Given the description of an element on the screen output the (x, y) to click on. 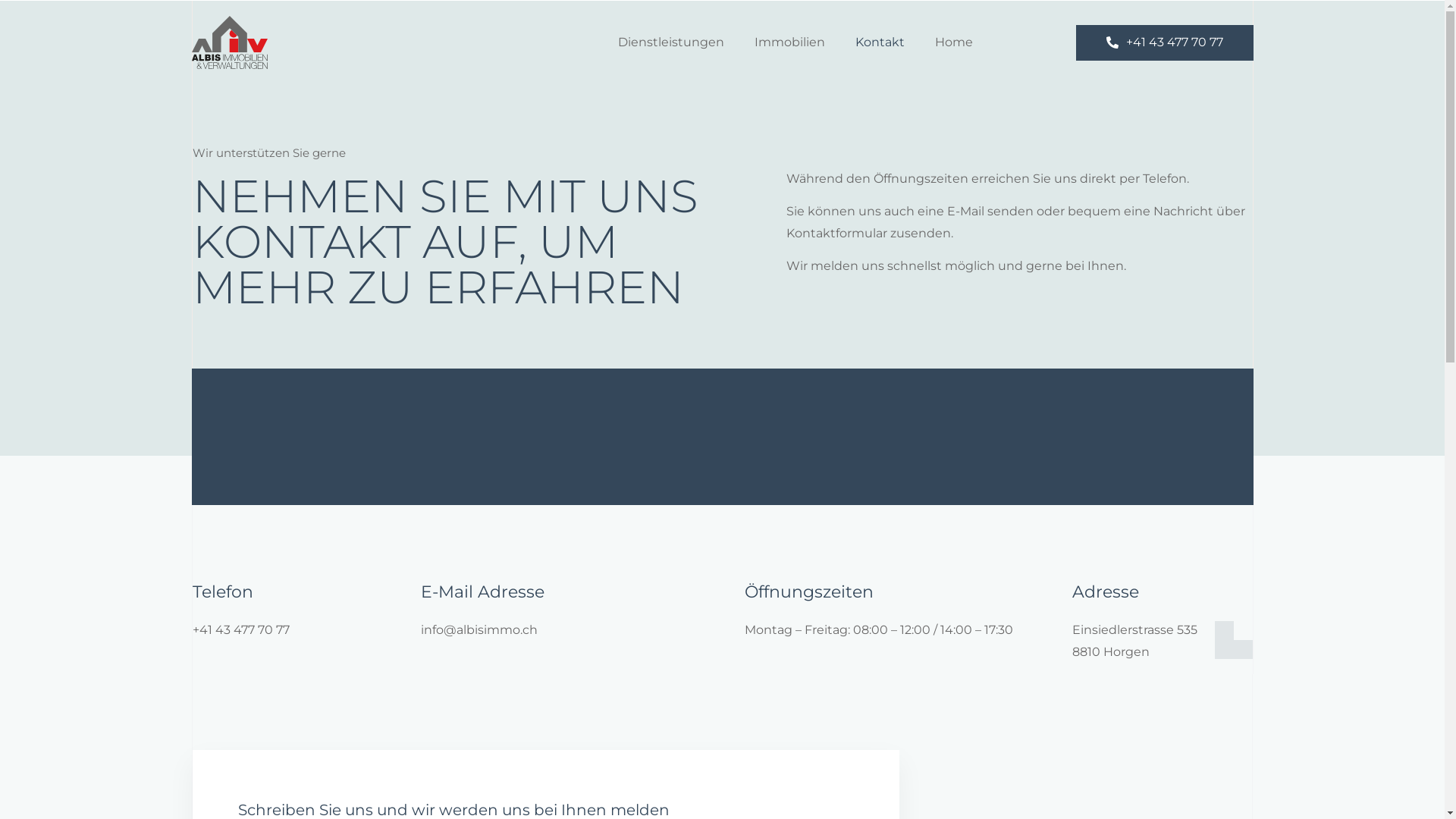
Immobilien Element type: text (788, 42)
Home Element type: text (953, 42)
Dienstleistungen Element type: text (670, 42)
Kontakt Element type: text (879, 42)
+41 43 477 70 77 Element type: text (1163, 41)
